Given the description of an element on the screen output the (x, y) to click on. 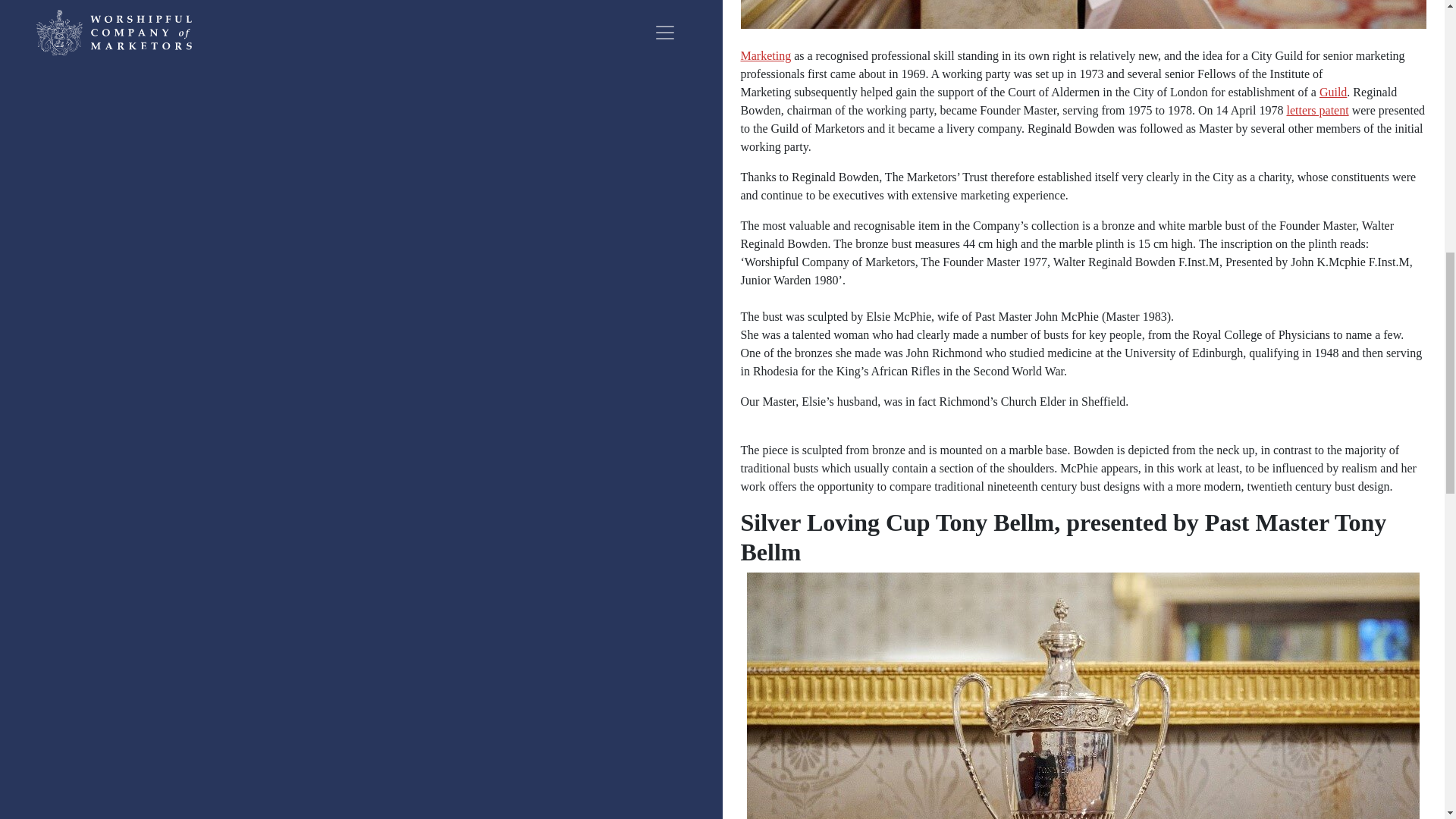
Marketing (764, 64)
Guild (1332, 91)
letters patent (1316, 110)
